Given the description of an element on the screen output the (x, y) to click on. 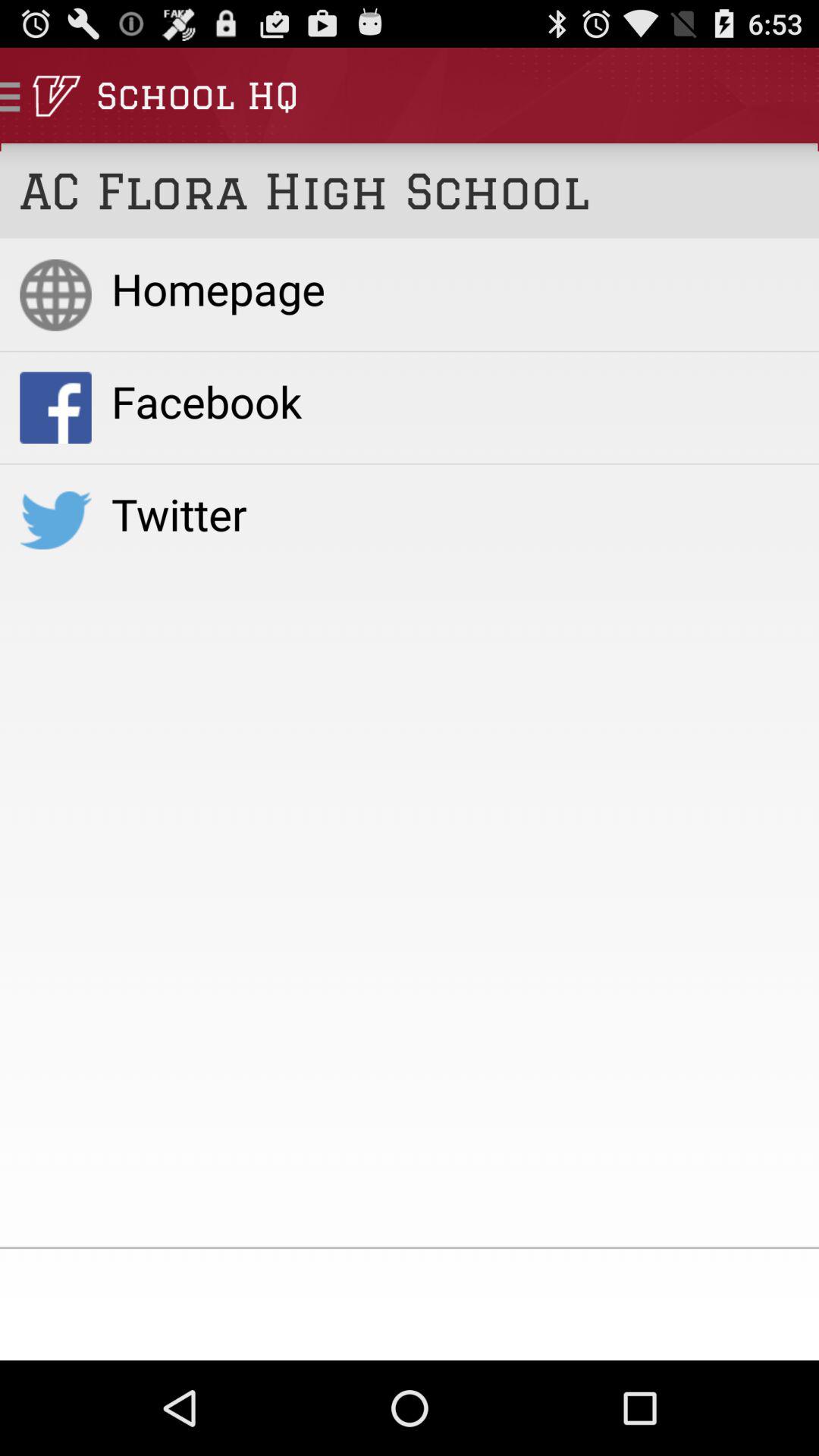
turn off the item below the facebook app (455, 513)
